Given the description of an element on the screen output the (x, y) to click on. 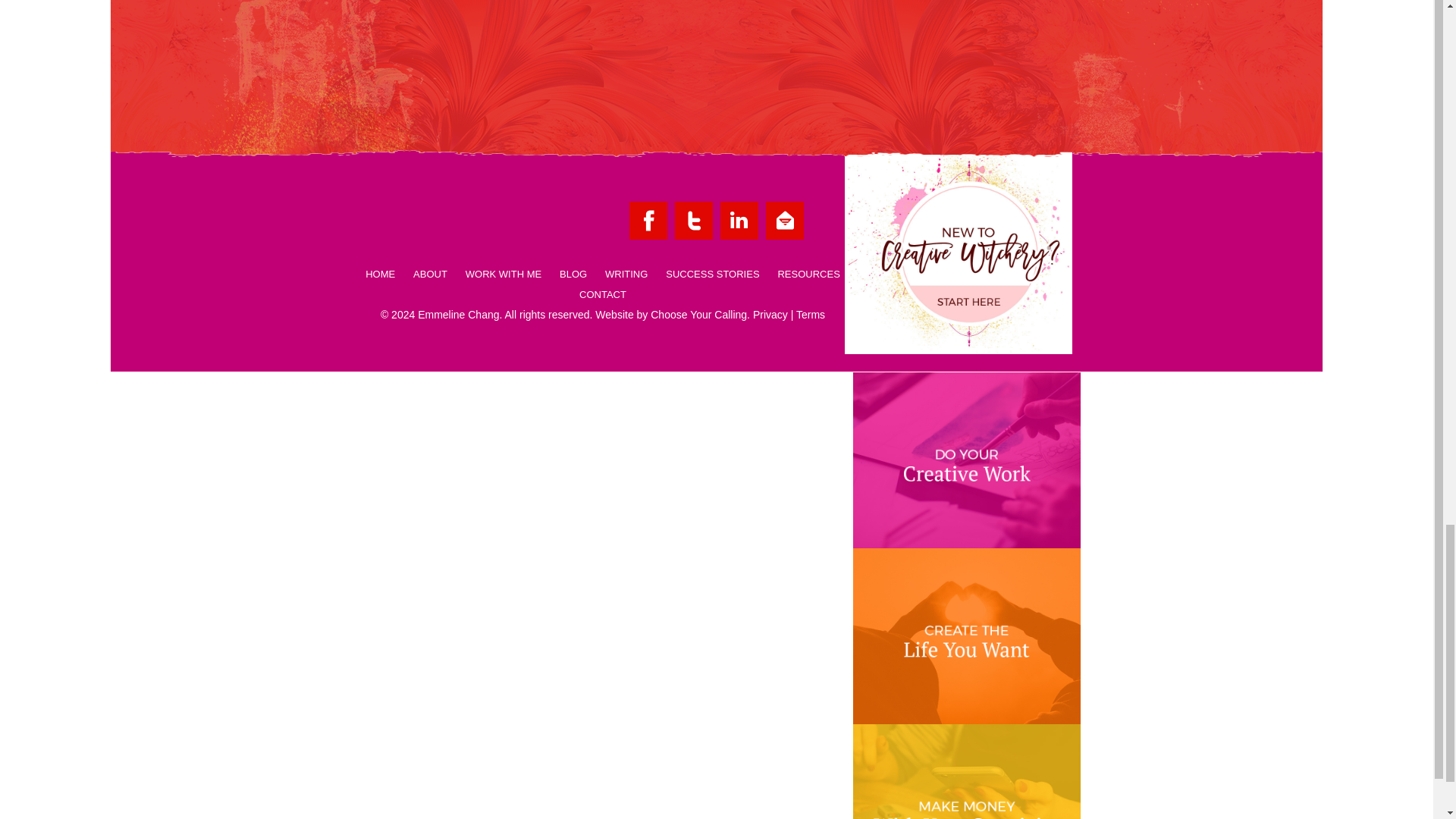
GET YOUR MAGIC! (945, 91)
